Given the description of an element on the screen output the (x, y) to click on. 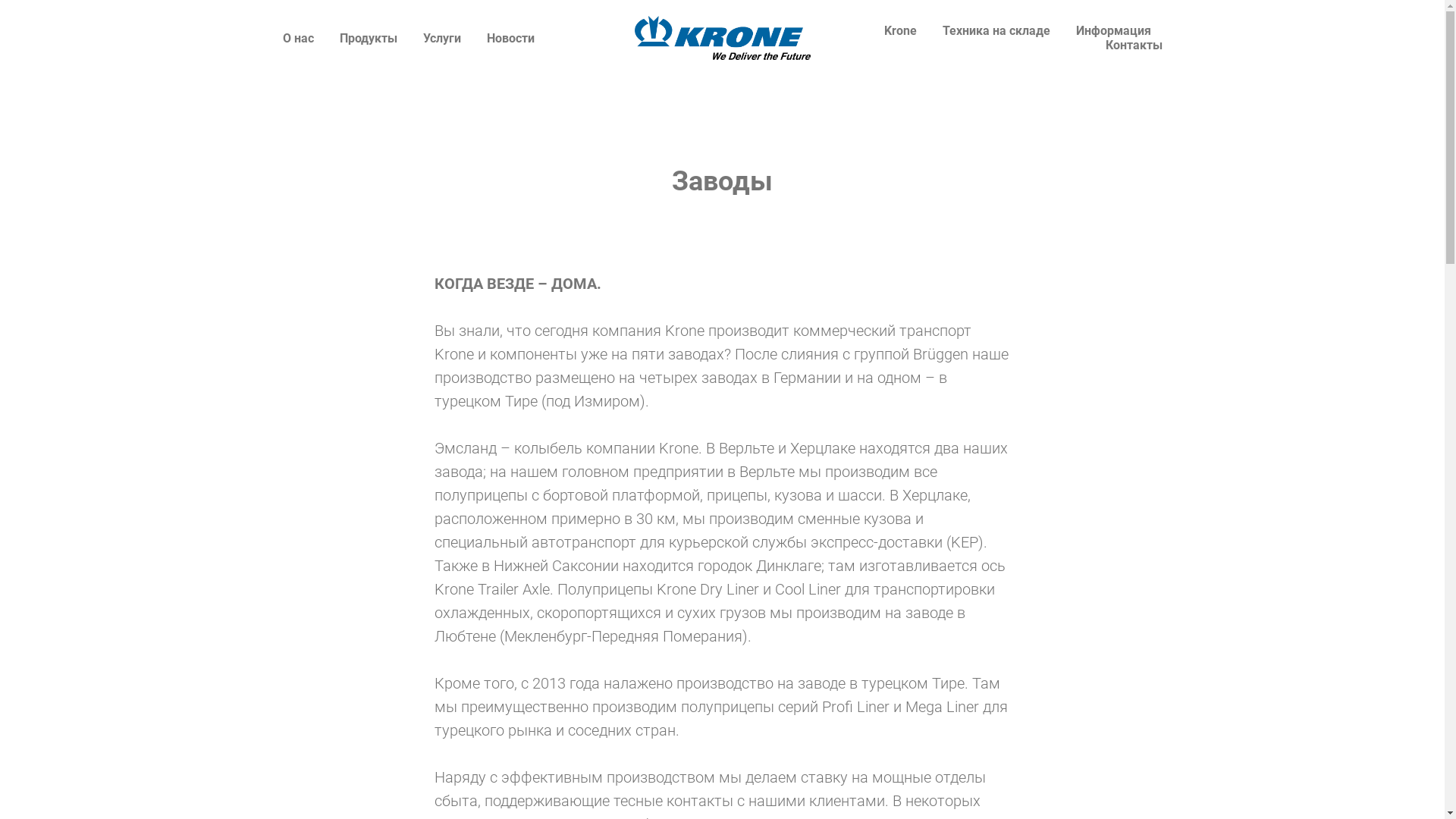
Krone Element type: text (900, 30)
